Given the description of an element on the screen output the (x, y) to click on. 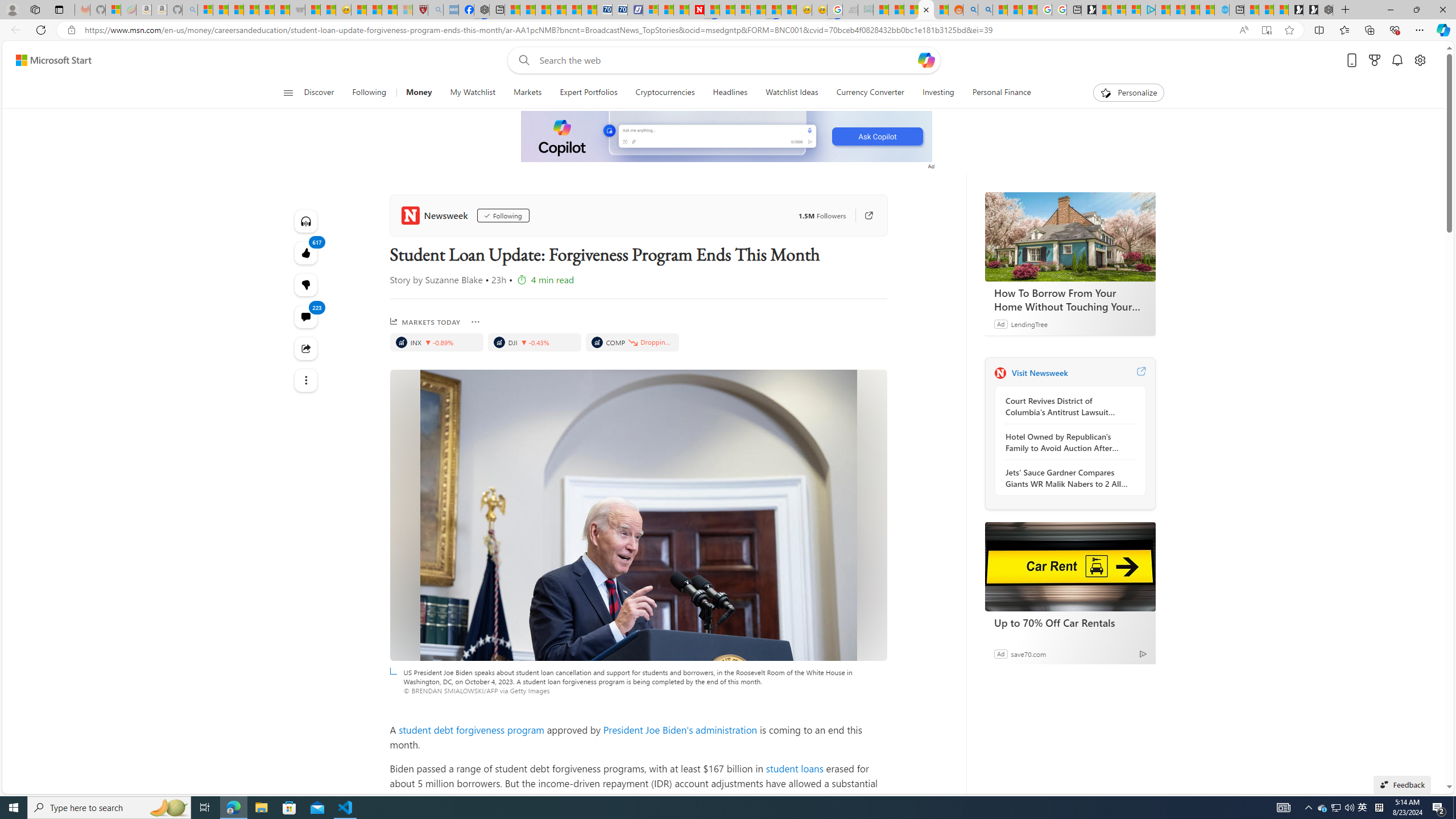
Share this story (305, 348)
Newsweek - News, Analysis, Politics, Business, Technology (696, 9)
DJI, DOW. Price is 40,712.78. Decreased by -0.43% (533, 342)
